Given the description of an element on the screen output the (x, y) to click on. 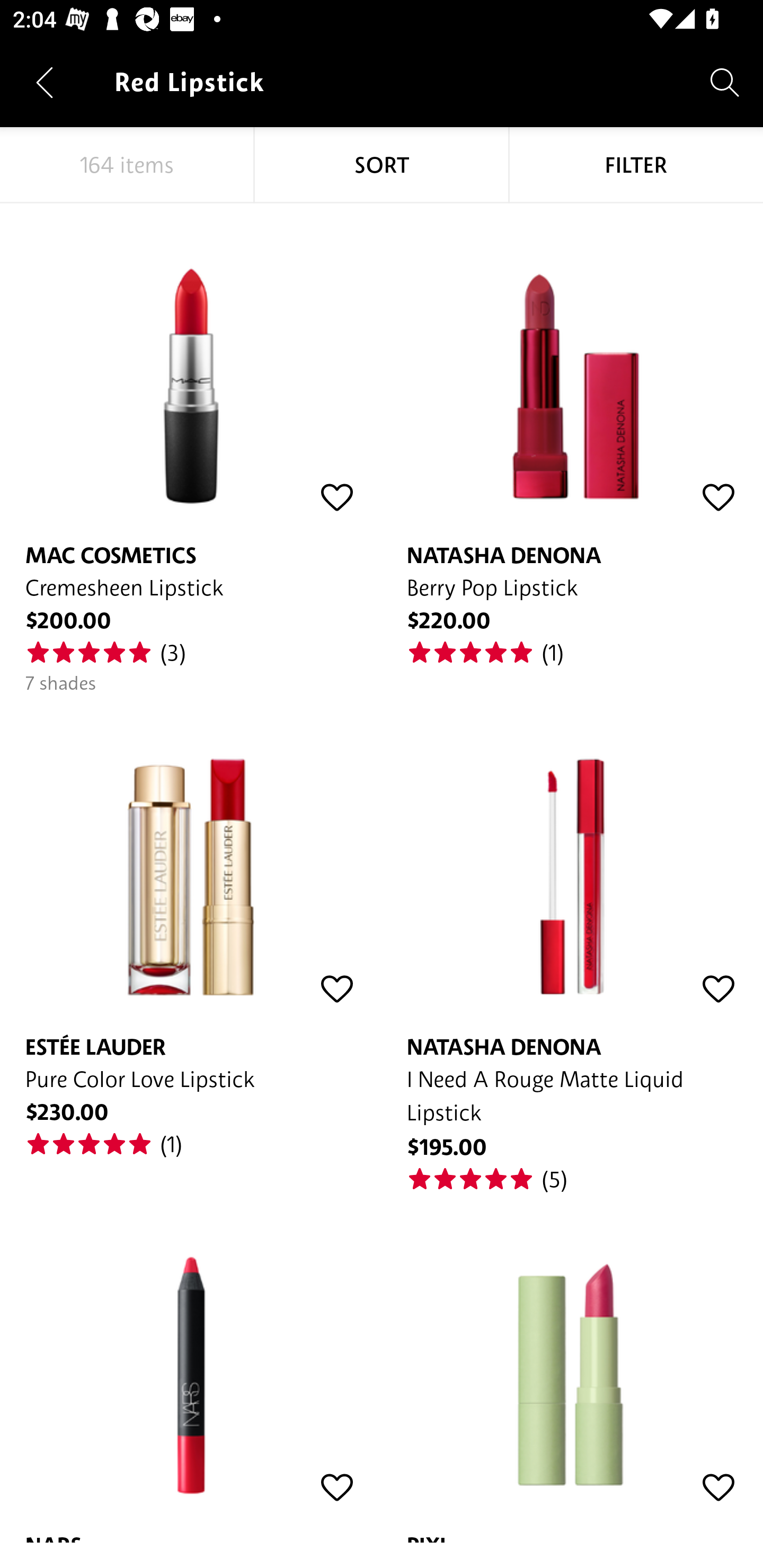
Navigate up (44, 82)
Search (724, 81)
SORT (381, 165)
FILTER (636, 165)
NATASHA DENONA Berry Pop Lipstick $220.00 (1) (571, 434)
ESTÉE LAUDER Pure Color Love Lipstick $230.00 (1) (190, 926)
NARS Velvet Matte Lip Pencil (190, 1367)
PIXI Naturelle Lip (571, 1367)
